Given the description of an element on the screen output the (x, y) to click on. 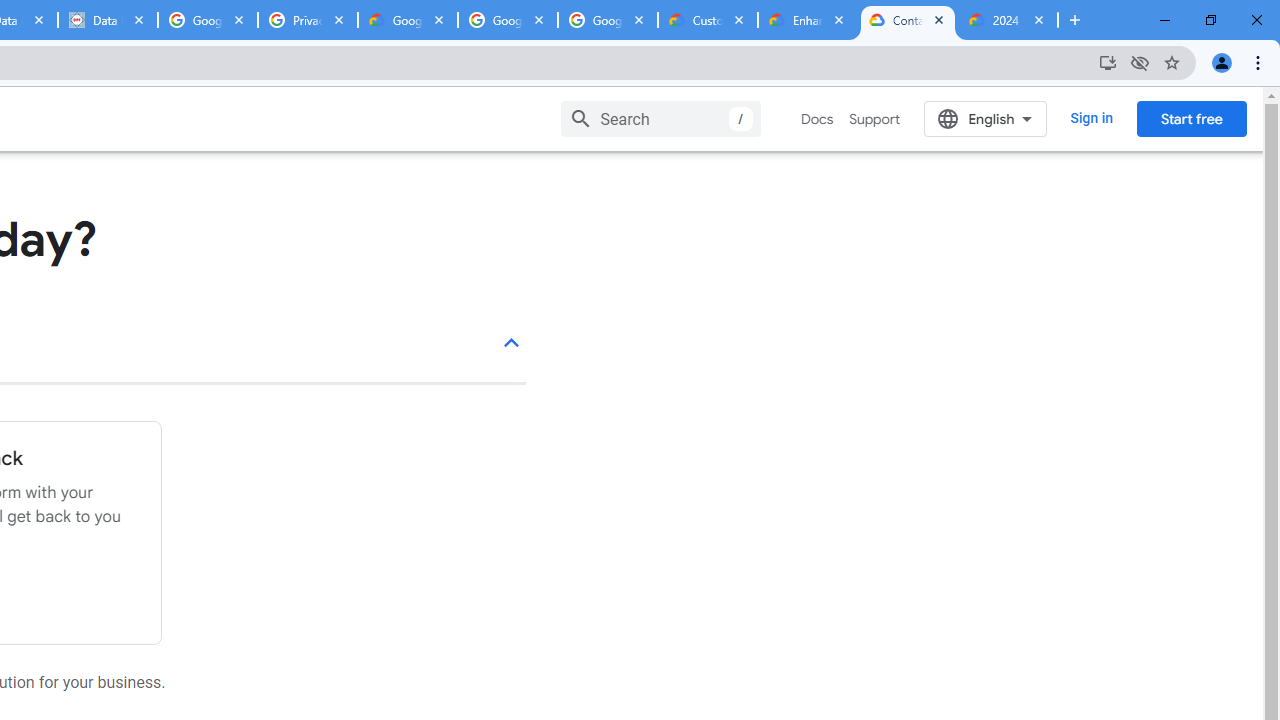
Start free (1191, 118)
Data Privacy Framework (107, 20)
Docs (817, 119)
Google Workspace - Specific Terms (607, 20)
Enhanced Support | Google Cloud (807, 20)
Install Google Cloud (1107, 62)
Customer Care | Google Cloud (707, 20)
